Given the description of an element on the screen output the (x, y) to click on. 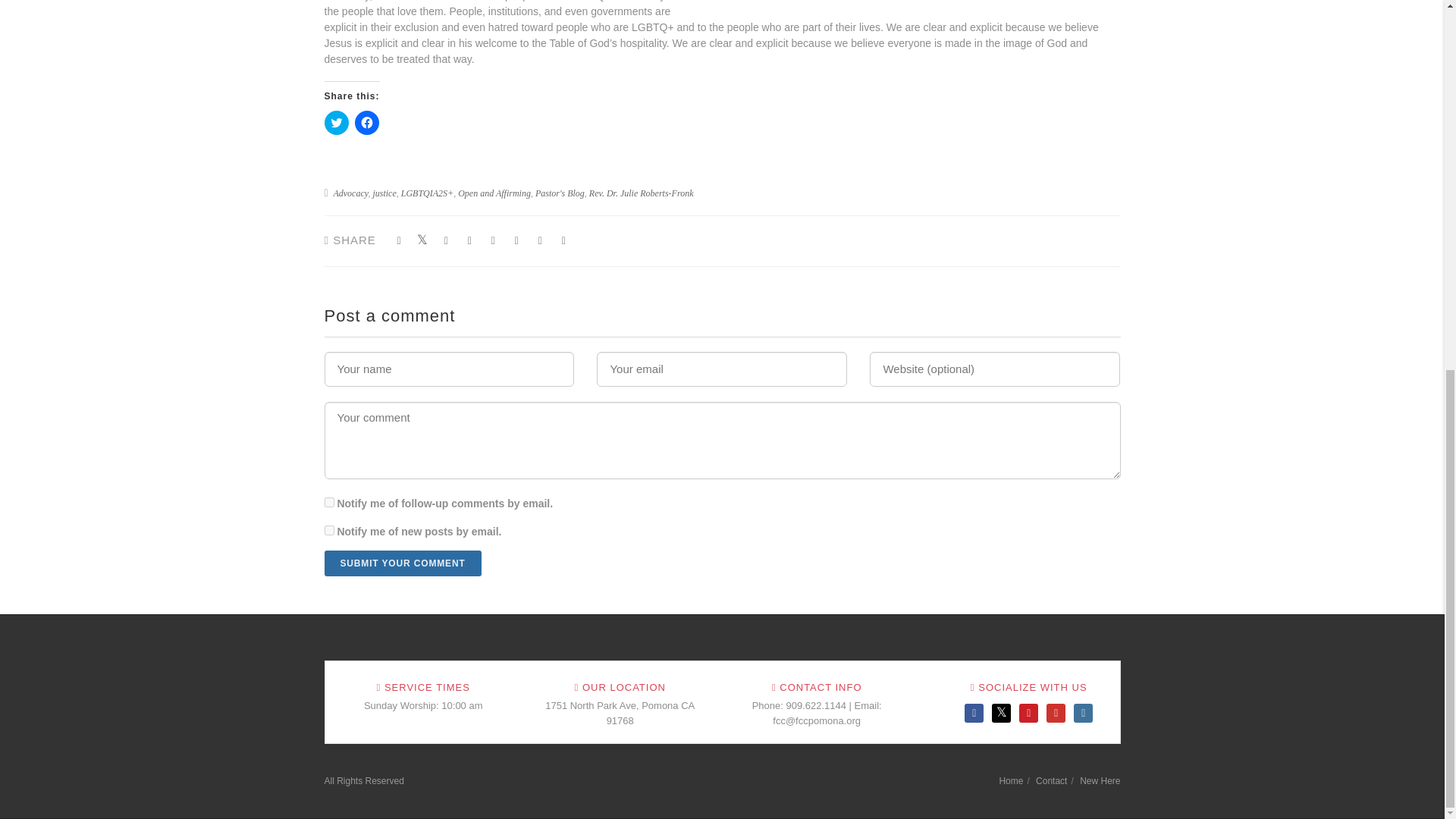
Pin it (492, 240)
Pastor's Blog (560, 193)
Share on Linkedin (540, 240)
Next (825, 286)
Open and Affirming (494, 193)
Post to Tumblr (469, 240)
Share on Facebook (445, 240)
Advocacy (350, 193)
Share on Facebook (399, 240)
subscribe (329, 530)
Click to share on Facebook (366, 122)
Click to share on Twitter (336, 122)
subscribe (329, 501)
Tweet (422, 240)
justice (384, 193)
